Given the description of an element on the screen output the (x, y) to click on. 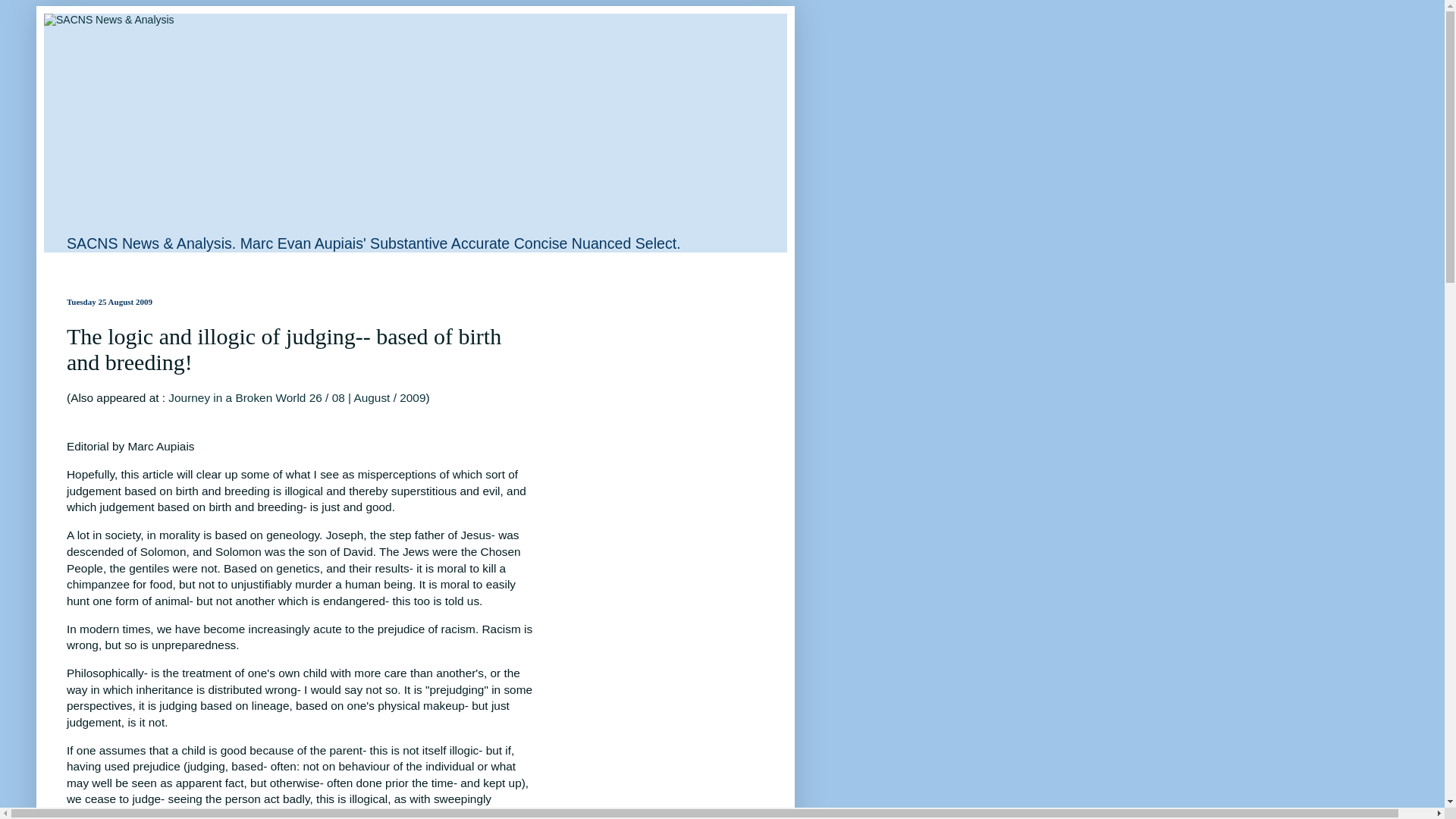
Journey in a Broken World (238, 397)
A record of observations- Edited by Marc Aupiais (238, 397)
